Given the description of an element on the screen output the (x, y) to click on. 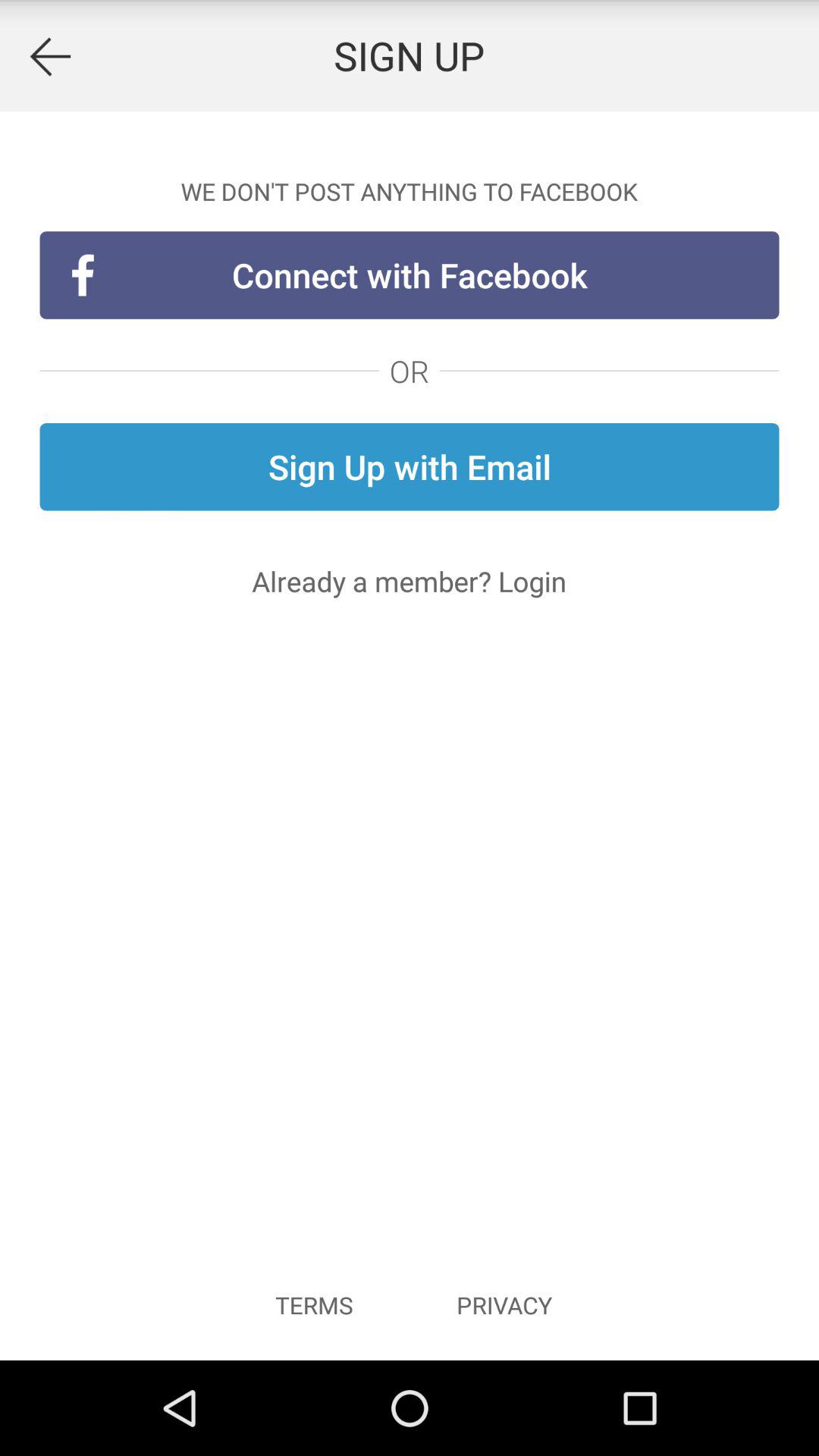
go back (49, 55)
